Given the description of an element on the screen output the (x, y) to click on. 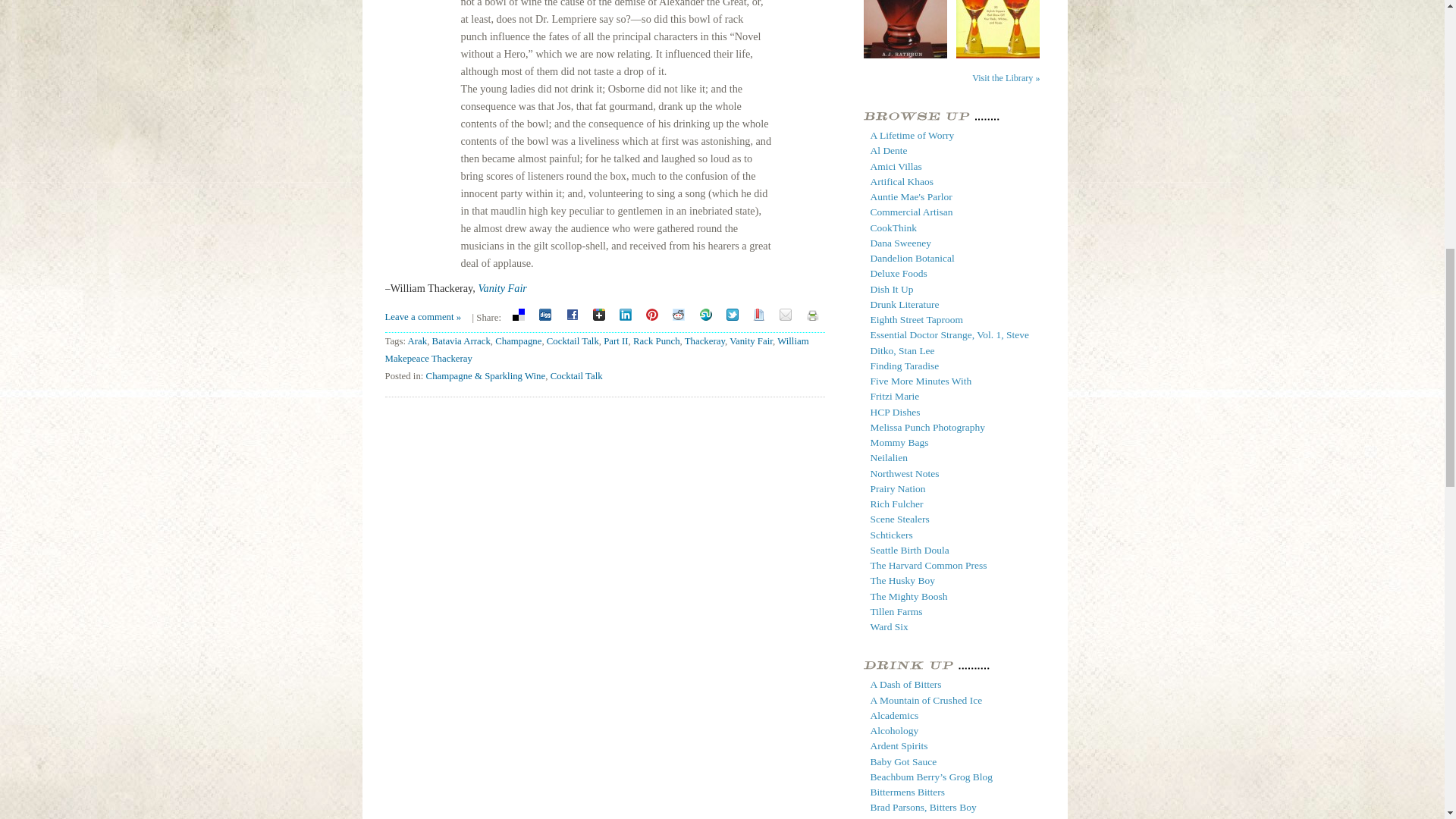
Champagne (518, 340)
Share '' on Pinterest (652, 314)
Part II (615, 340)
Rack Punch (656, 340)
Arak (417, 340)
William Makepeace Thackeray (597, 349)
Share '' on Twitter (732, 314)
Share '' on Digg (544, 314)
Share '' on Print Friendly (812, 314)
Share '' on Add to Bookmarks (758, 314)
Share '' on Email (785, 314)
Share '' on Facebook (572, 314)
Share '' on Delicious (518, 314)
Thackeray (704, 340)
Share '' on StumbleUpon (705, 314)
